Given the description of an element on the screen output the (x, y) to click on. 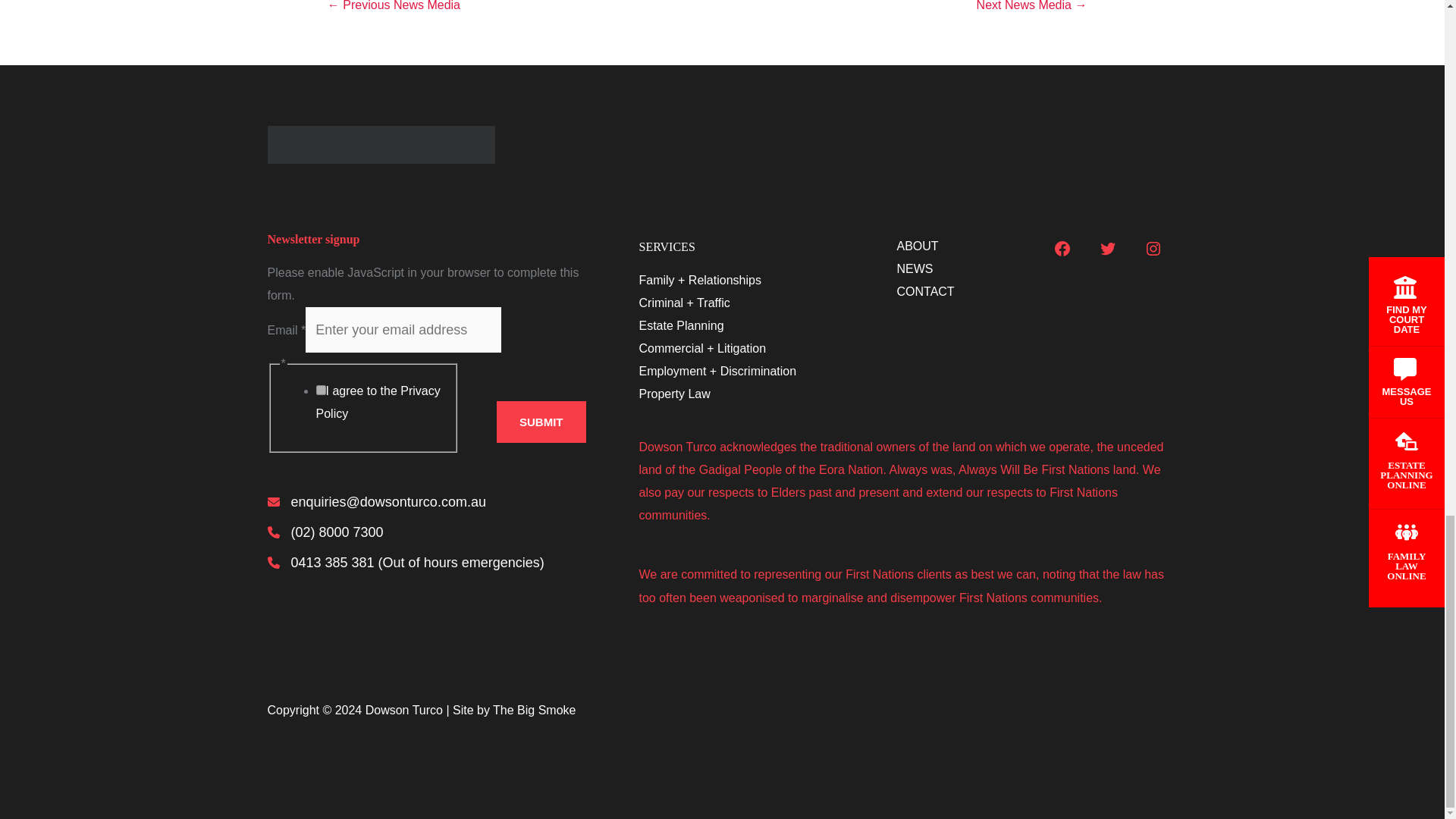
I agree to the Privacy Policy (319, 389)
